Given the description of an element on the screen output the (x, y) to click on. 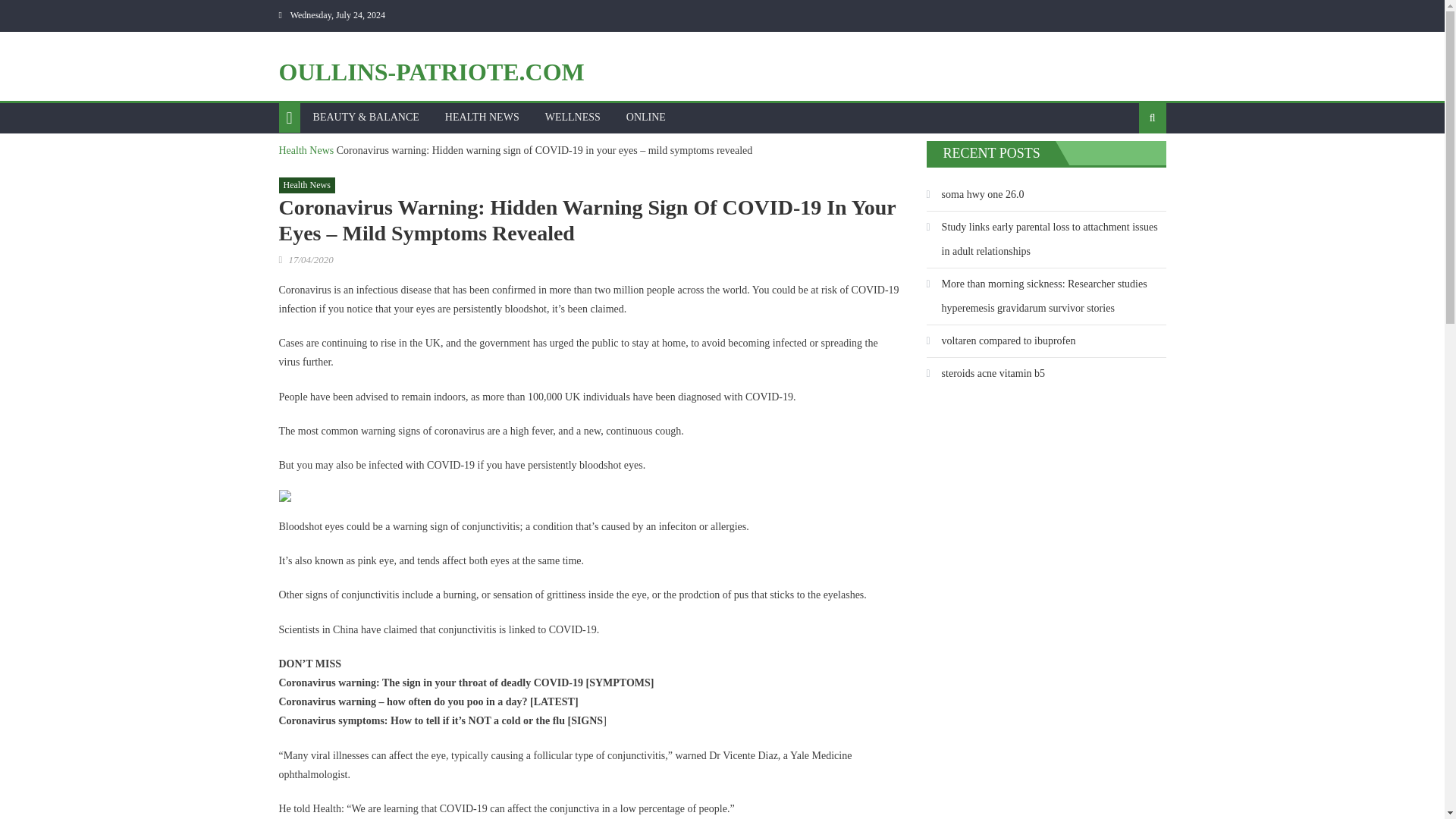
Health News (306, 150)
HEALTH NEWS (482, 117)
ONLINE (645, 117)
Search (1128, 166)
OULLINS-PATRIOTE.COM (432, 71)
WELLNESS (572, 117)
Health News (306, 185)
